Given the description of an element on the screen output the (x, y) to click on. 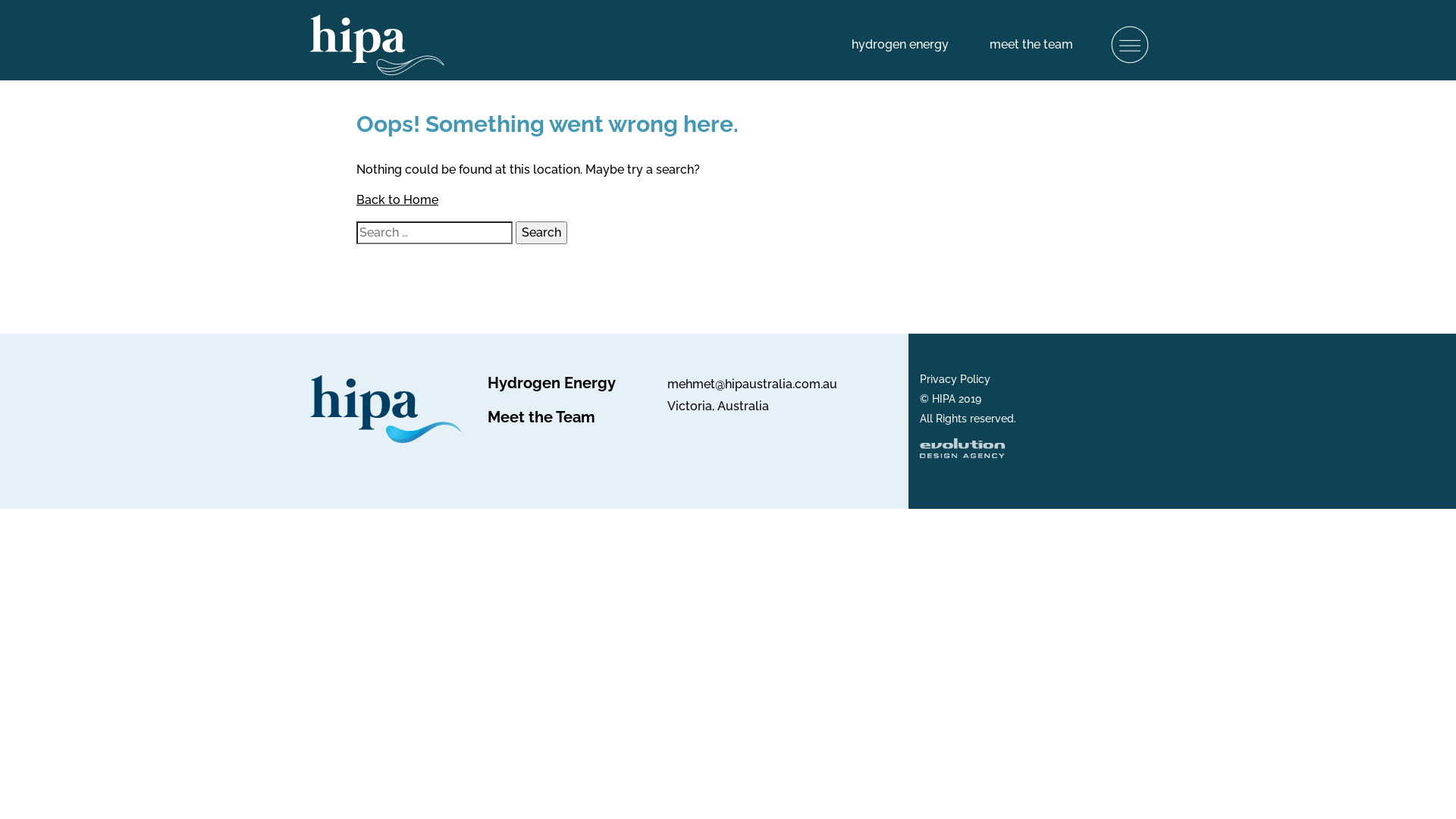
Back to Home Element type: text (397, 199)
Meet the Team Element type: text (540, 416)
Hydrogen Energy Element type: text (550, 382)
mehmet@hipaustralia.com.au Element type: text (752, 383)
Search Element type: text (541, 232)
Search for Element type: hover (434, 232)
Evolution Design Agency Element type: text (961, 451)
hydrogen energy Element type: text (899, 44)
meet the team Element type: text (1031, 44)
Privacy Policy Element type: text (954, 379)
